Given the description of an element on the screen output the (x, y) to click on. 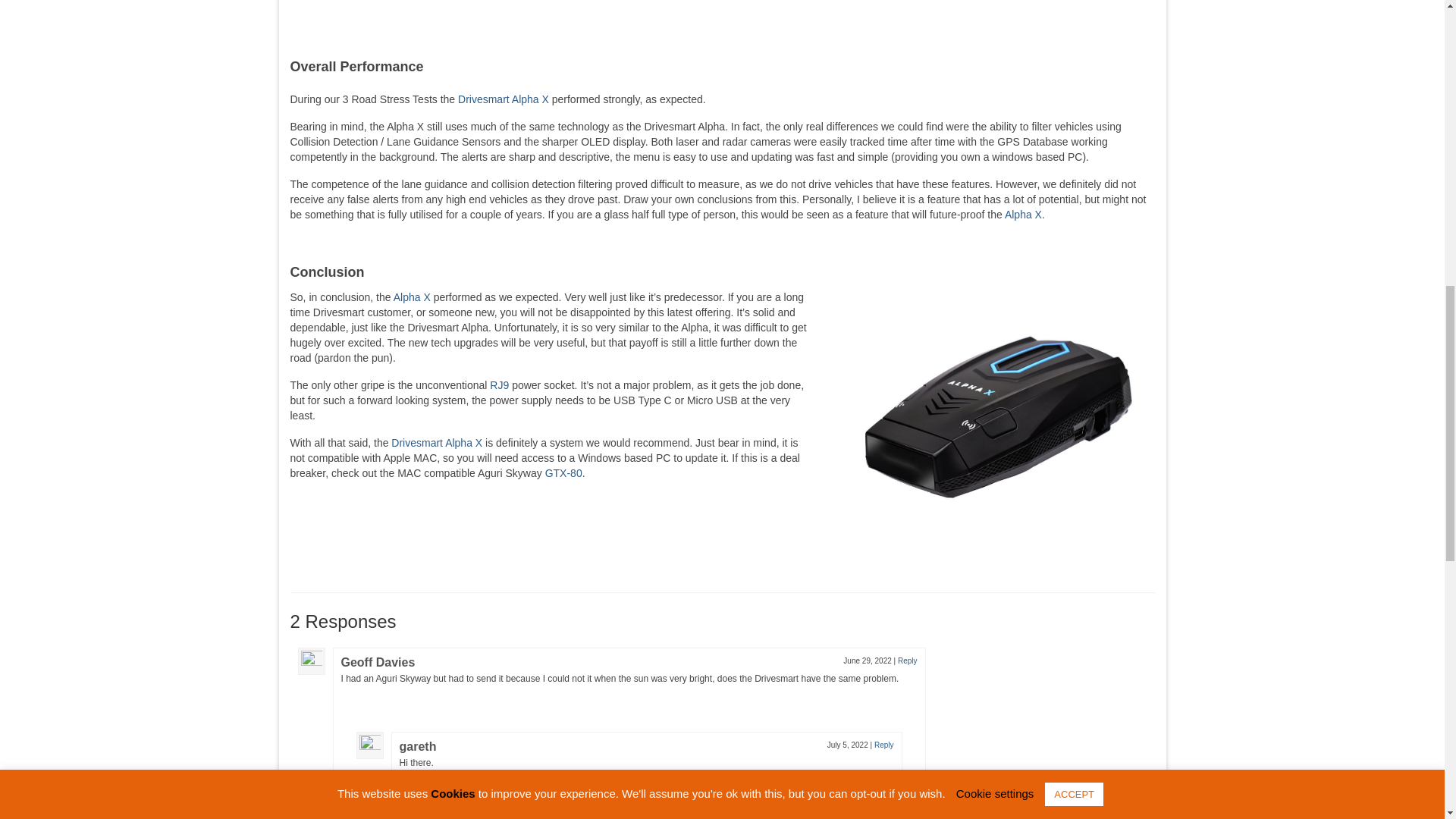
RJ9 (498, 385)
Drivesmart Alpha X Fitted (996, 415)
Alpha X (411, 297)
Reply (907, 660)
Alpha X (1023, 214)
Great For Filtering False Radar Alerts (447, 24)
GTX-80 (563, 472)
Drivesmart Alpha X (436, 442)
Drivesmart Alpha X (503, 99)
Reply (884, 745)
